Given the description of an element on the screen output the (x, y) to click on. 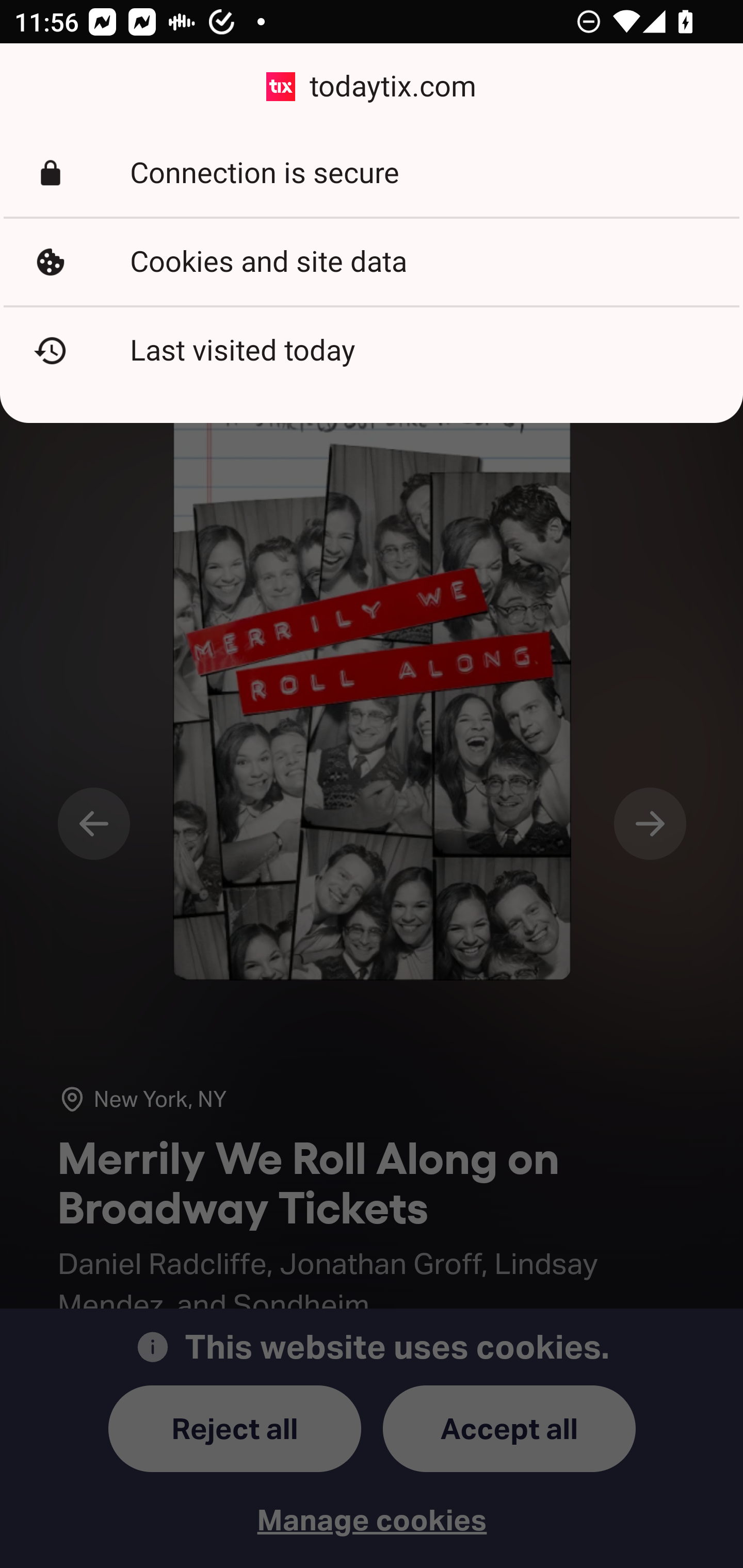
todaytix.com (371, 86)
Connection is secure (371, 173)
Cookies and site data (371, 261)
Last visited today (371, 350)
